Given the description of an element on the screen output the (x, y) to click on. 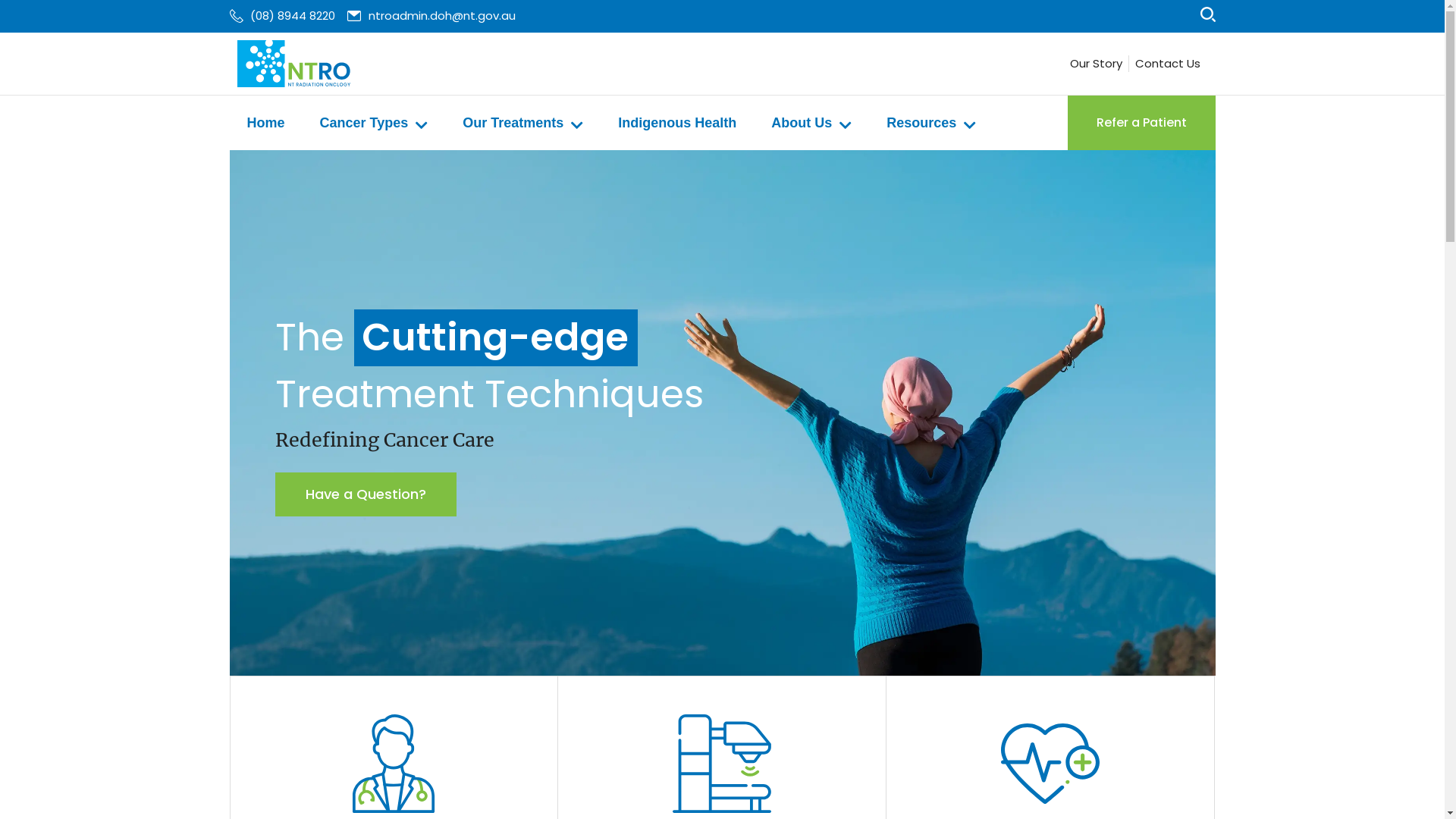
Home Element type: text (265, 122)
ntroadmin.doh@nt.gov.au Element type: text (431, 16)
Contact Us Element type: text (1166, 63)
Resources Element type: text (930, 122)
Cancer Types Element type: text (374, 122)
Indigenous Health Element type: text (677, 122)
(08) 8944 8220 Element type: text (282, 16)
Our Treatments Element type: text (522, 122)
Refer a Patient Element type: text (1141, 122)
Our Story Element type: text (1095, 63)
Have a Question? Element type: text (364, 494)
About Us Element type: text (811, 122)
